Given the description of an element on the screen output the (x, y) to click on. 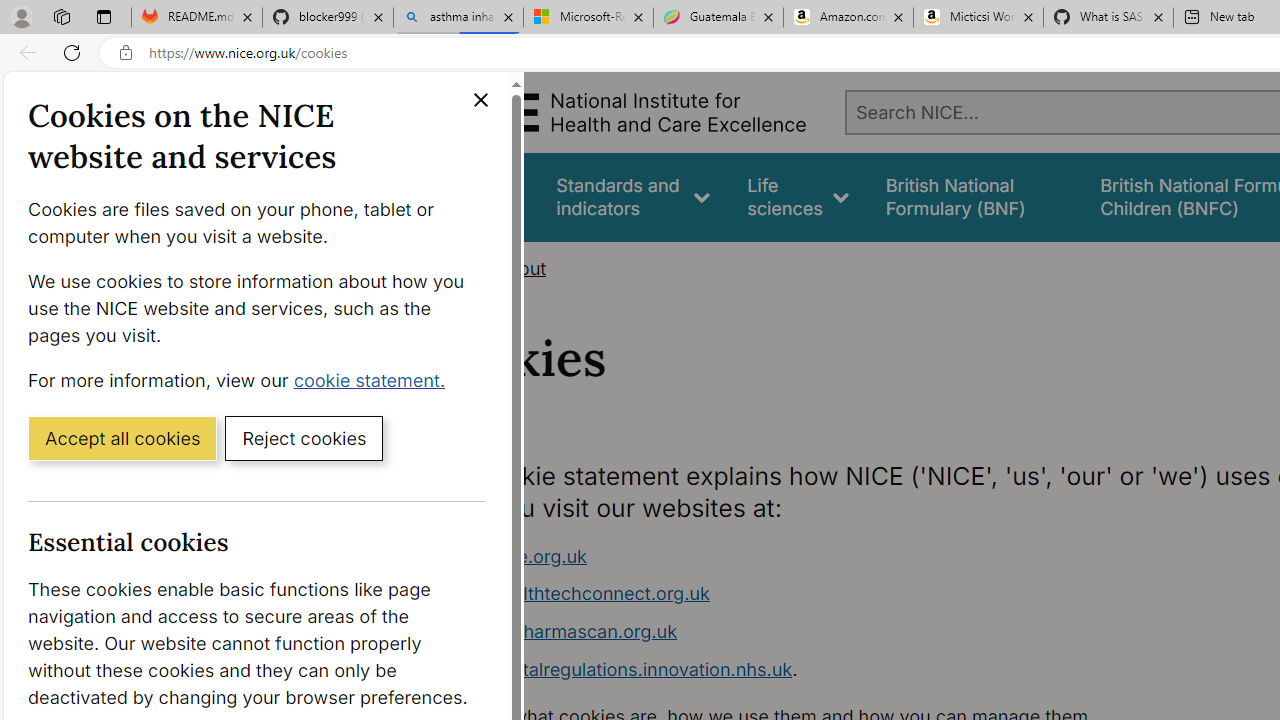
Home> (456, 268)
www.nice.org.uk (514, 556)
asthma inhaler - Search (458, 17)
www.nice.org.uk (818, 556)
Guidance (479, 196)
Life sciences (798, 196)
false (974, 196)
